Given the description of an element on the screen output the (x, y) to click on. 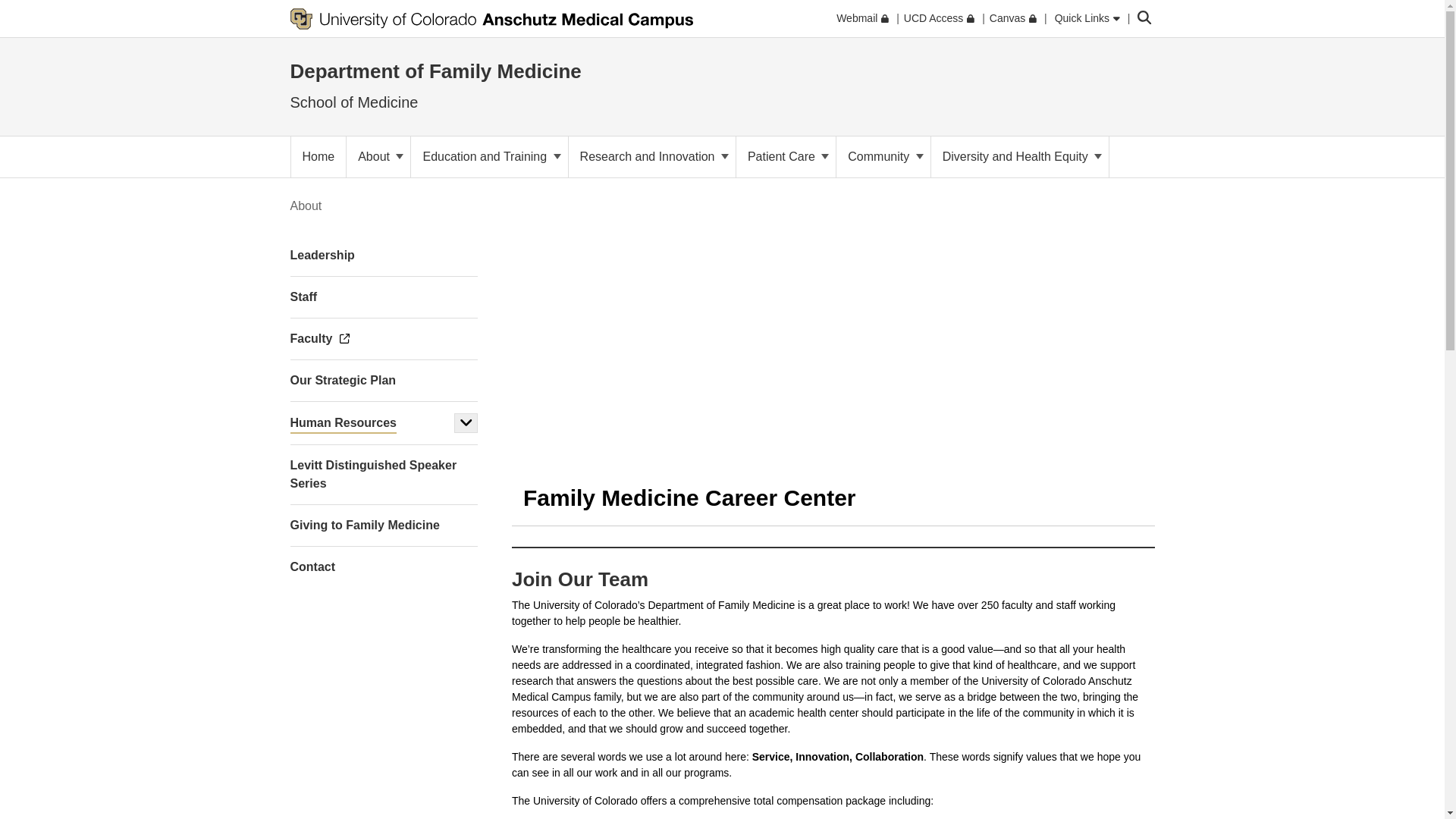
Department of Family Medicine (434, 70)
Webmail (861, 18)
School of Medicine (353, 102)
About (378, 156)
Canvas (1013, 18)
Quick Links (1086, 18)
Home (318, 156)
UCD Access (939, 18)
